Given the description of an element on the screen output the (x, y) to click on. 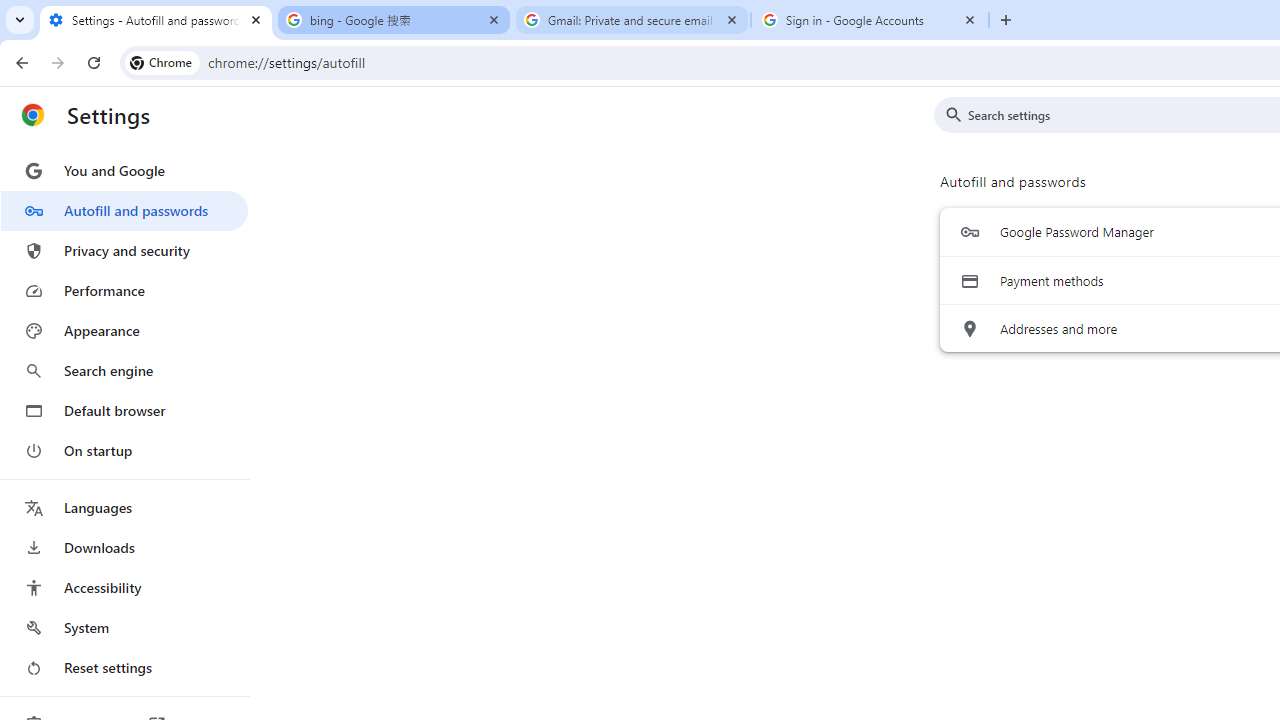
 Bing Bing https://www.bing.com (250, 300)
Bing (269, 394)
